Given the description of an element on the screen output the (x, y) to click on. 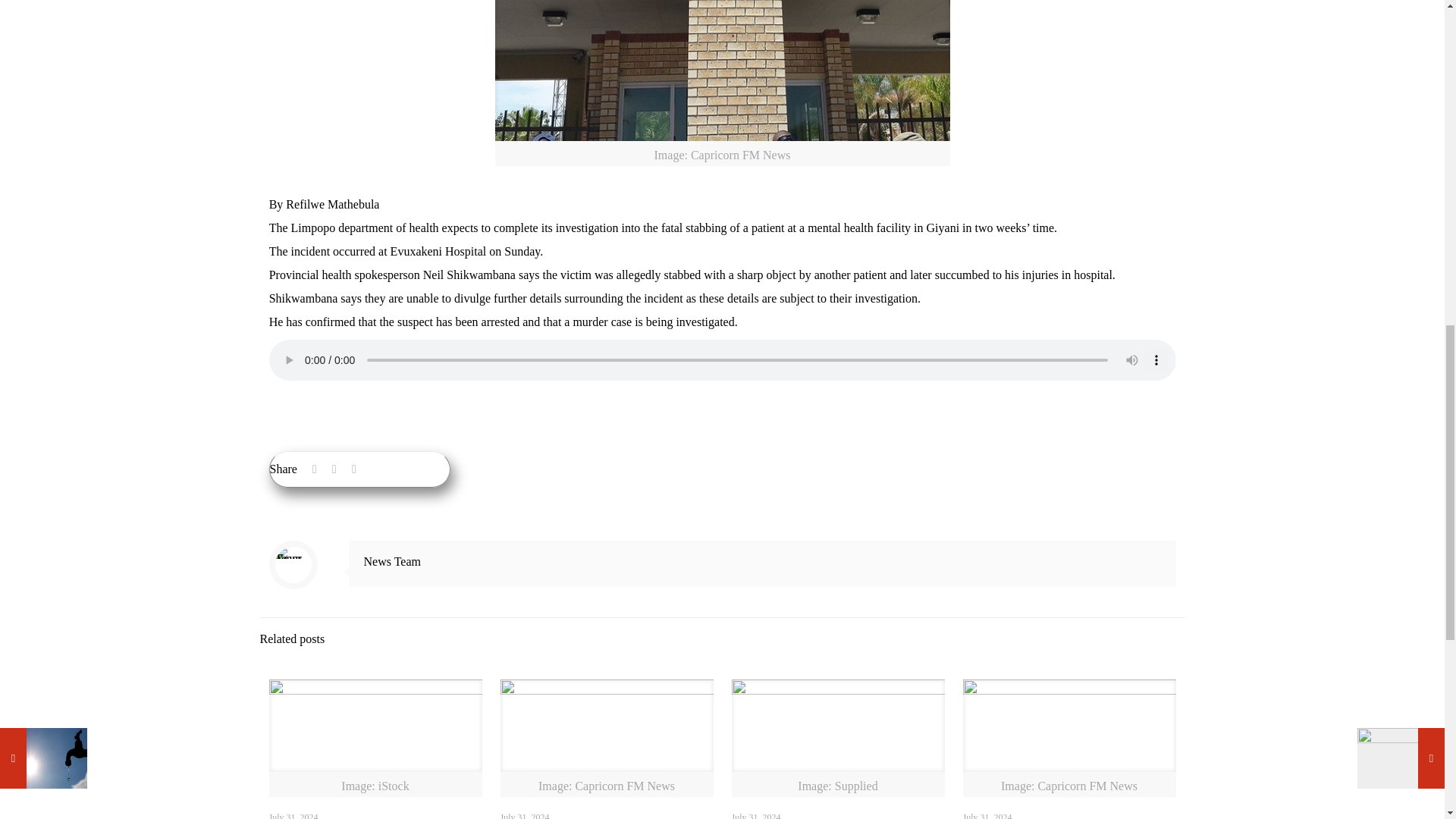
News Team (392, 561)
